Given the description of an element on the screen output the (x, y) to click on. 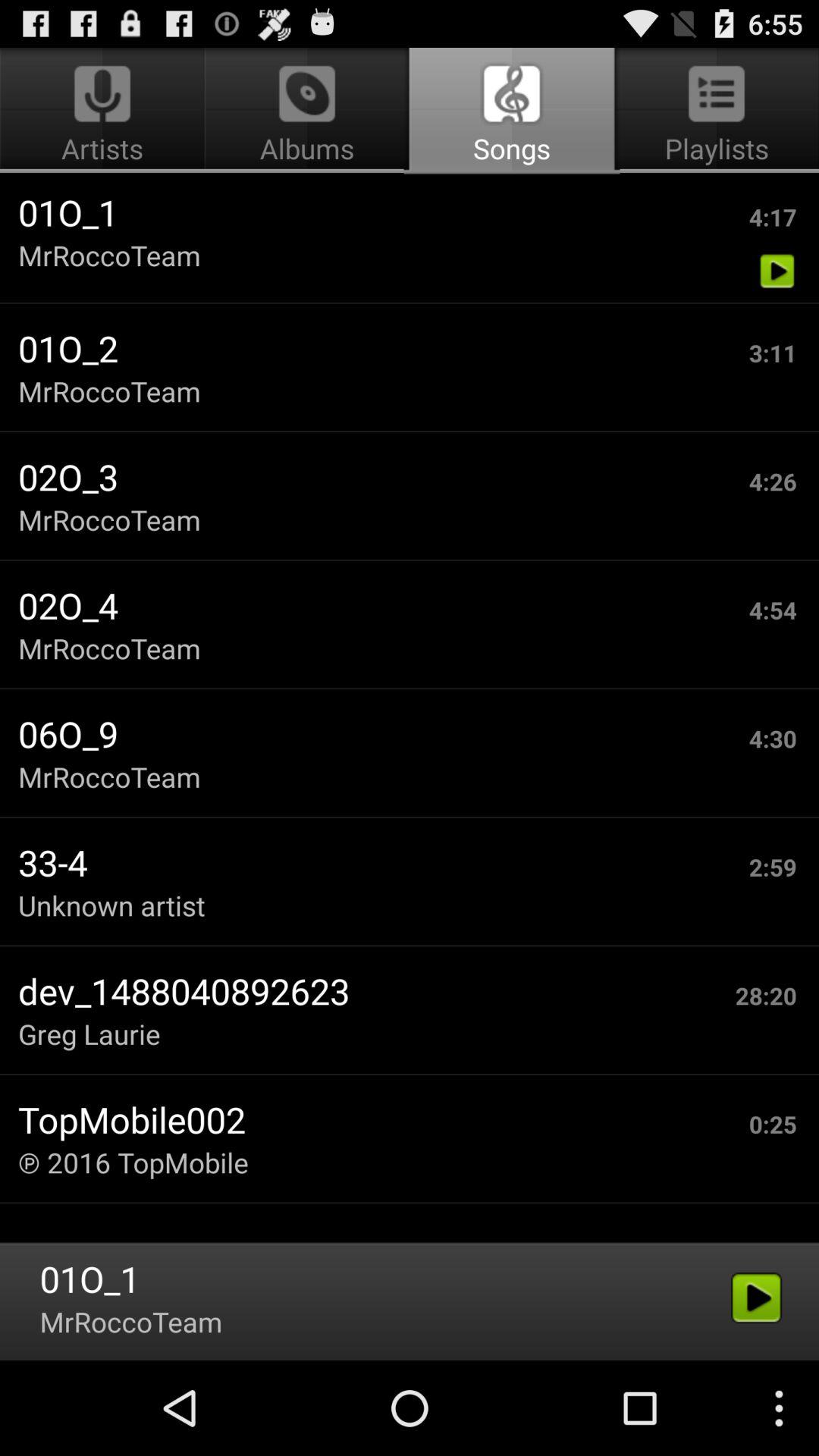
press the albums icon (307, 111)
